Given the description of an element on the screen output the (x, y) to click on. 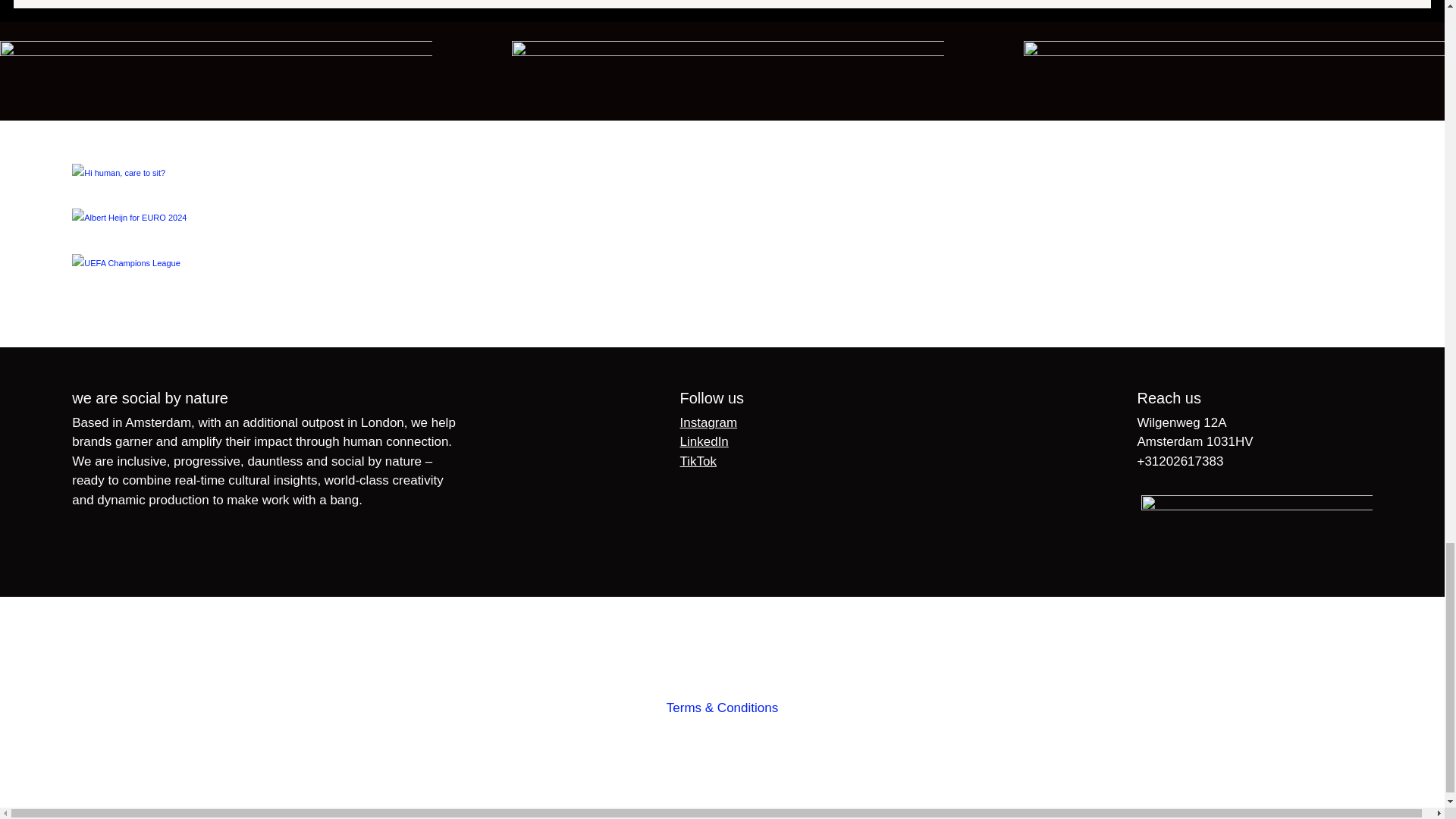
LinkedIn (704, 441)
Instagram (708, 422)
UEFA Champions League (722, 281)
TikTok (698, 461)
Albert Heijn for EURO 2024 (722, 236)
Hi human, care to sit? (721, 190)
